Given the description of an element on the screen output the (x, y) to click on. 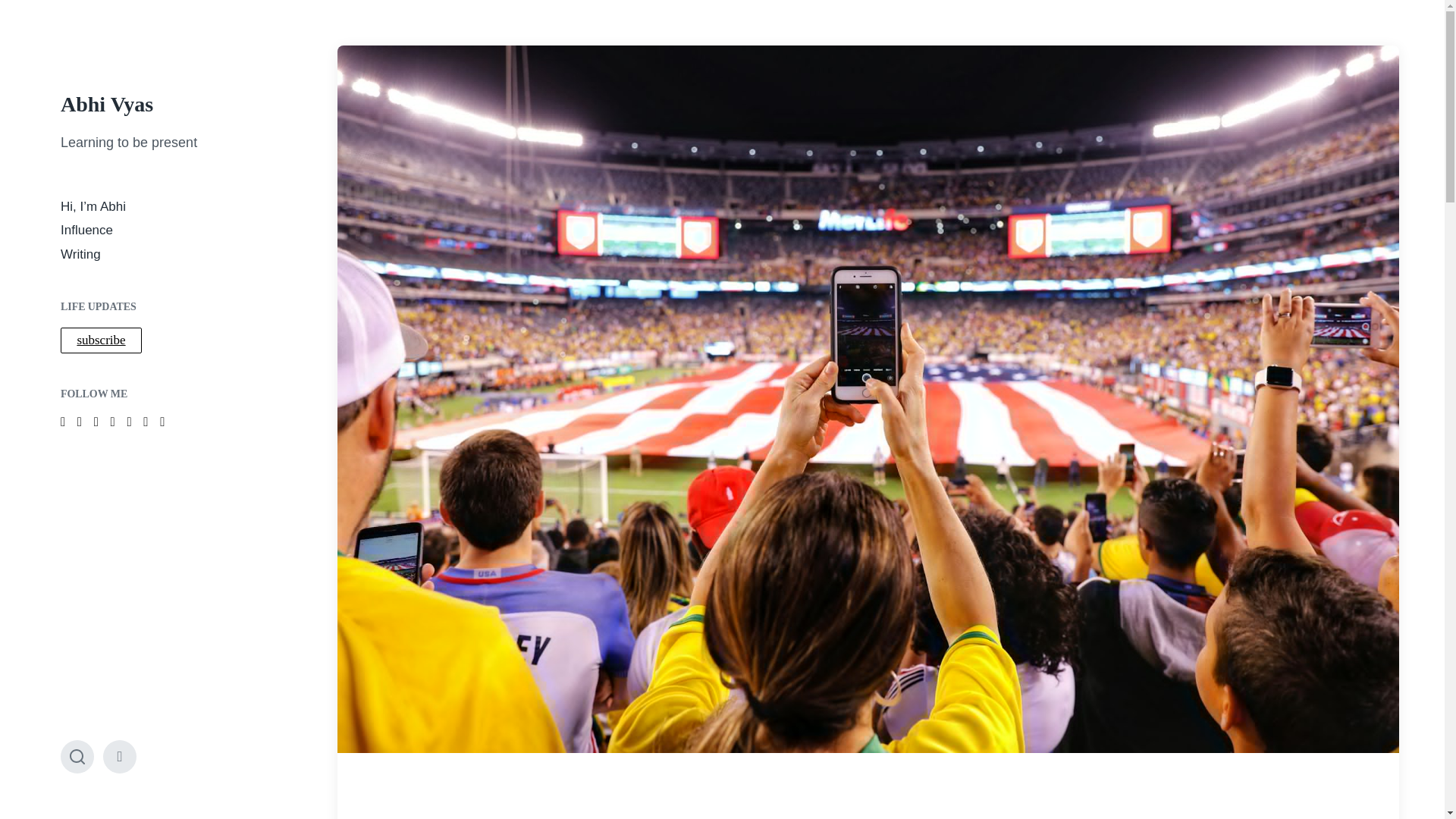
Influence (87, 229)
Toggle the search field (77, 756)
Abhi Vyas (106, 104)
subscribe (101, 339)
About me (119, 756)
Writing (80, 254)
